Given the description of an element on the screen output the (x, y) to click on. 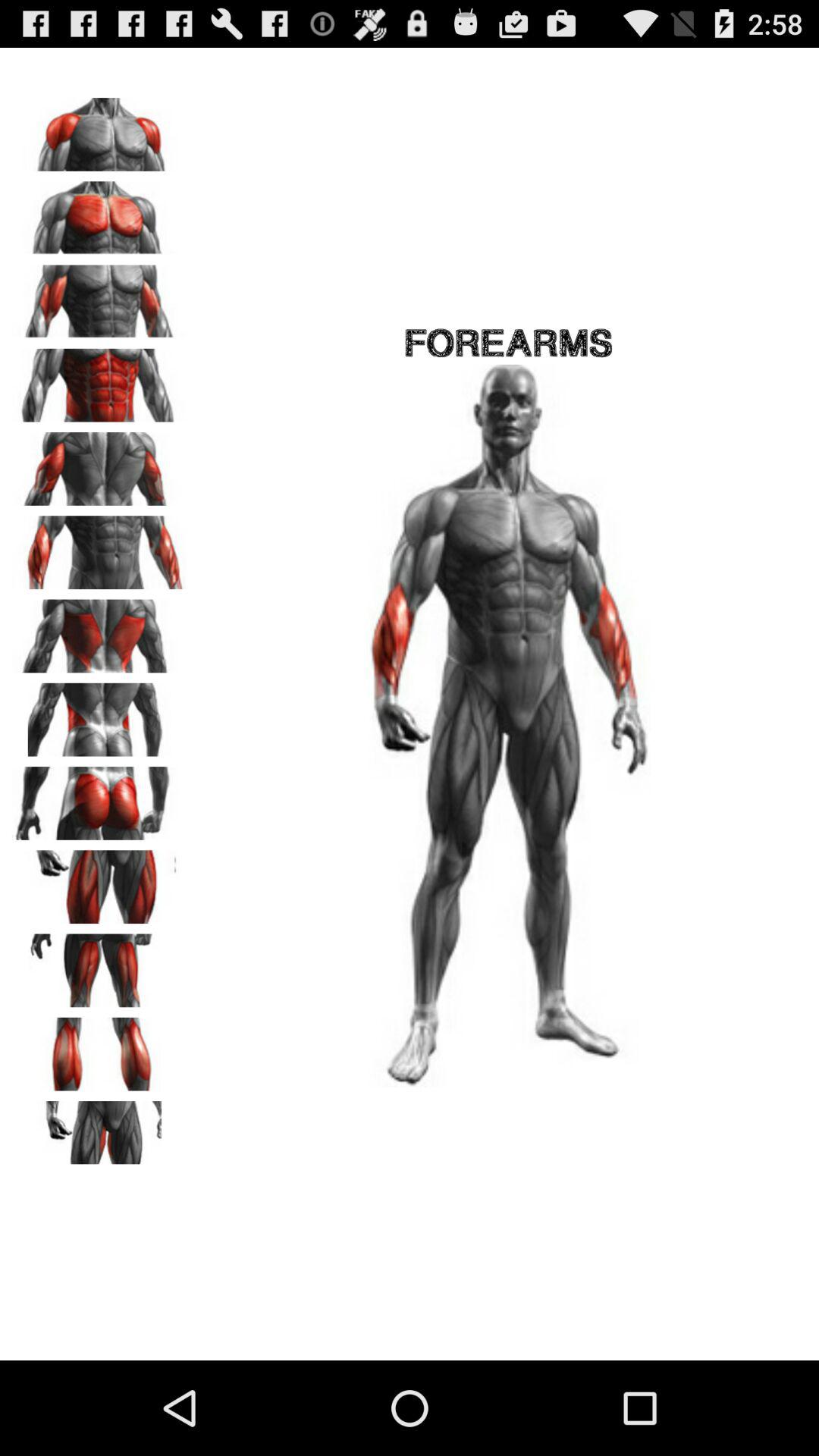
select abs (99, 380)
